Given the description of an element on the screen output the (x, y) to click on. 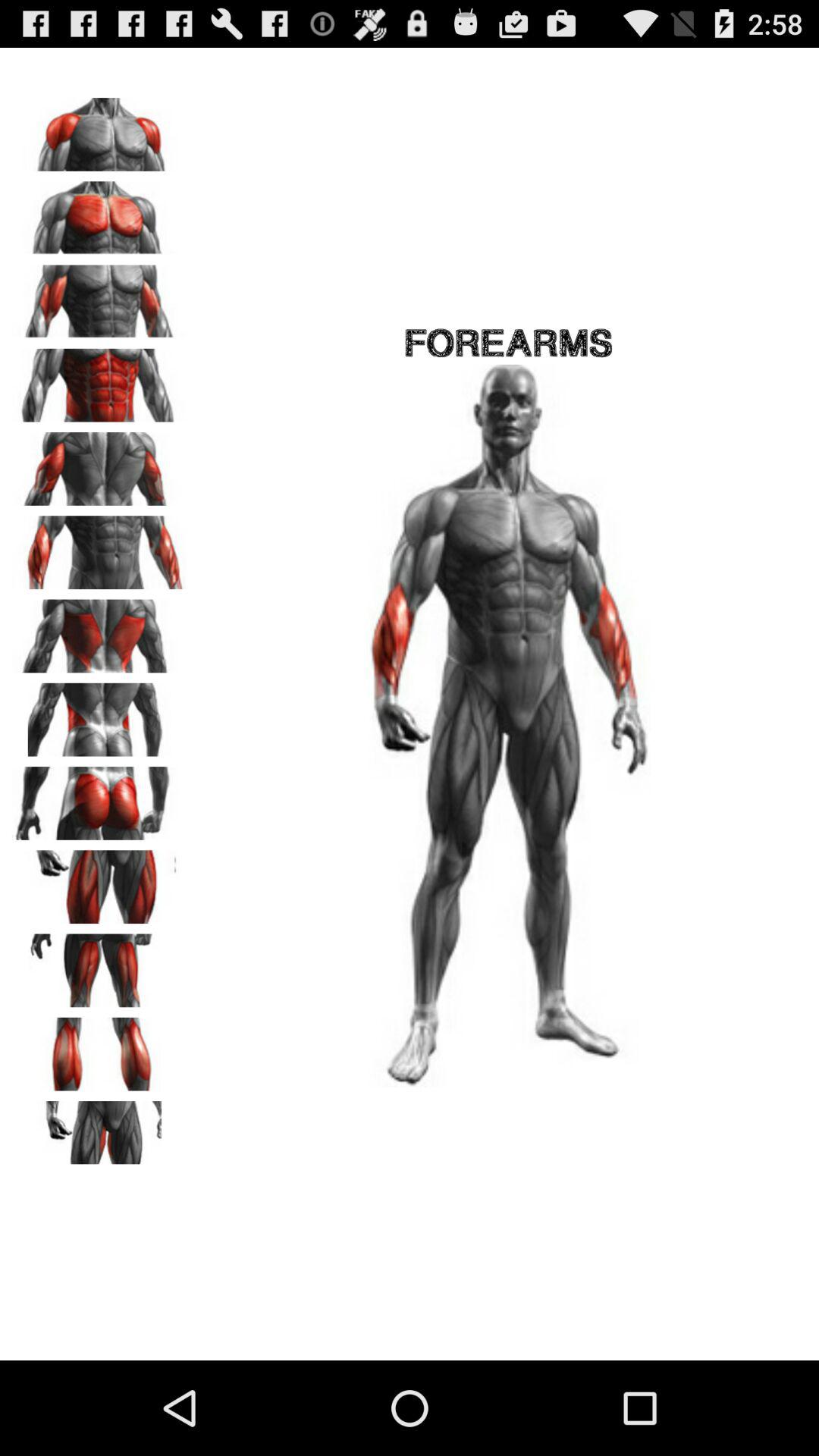
select abs (99, 380)
